Given the description of an element on the screen output the (x, y) to click on. 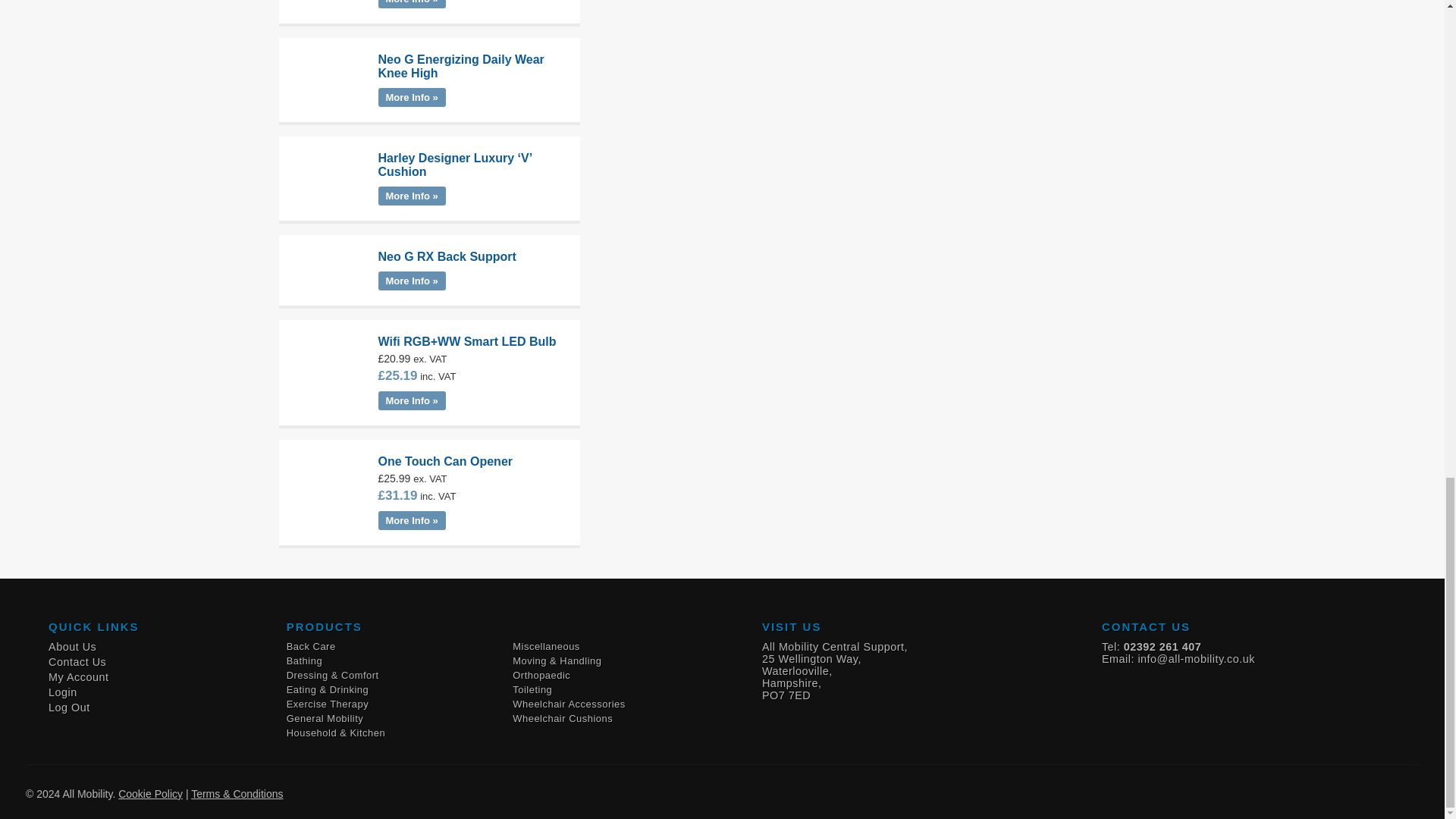
My Account (77, 677)
Log Out (69, 707)
About Us (72, 647)
Back Care (311, 646)
Bathing (303, 660)
Login (62, 692)
Contact Us (77, 661)
